Given the description of an element on the screen output the (x, y) to click on. 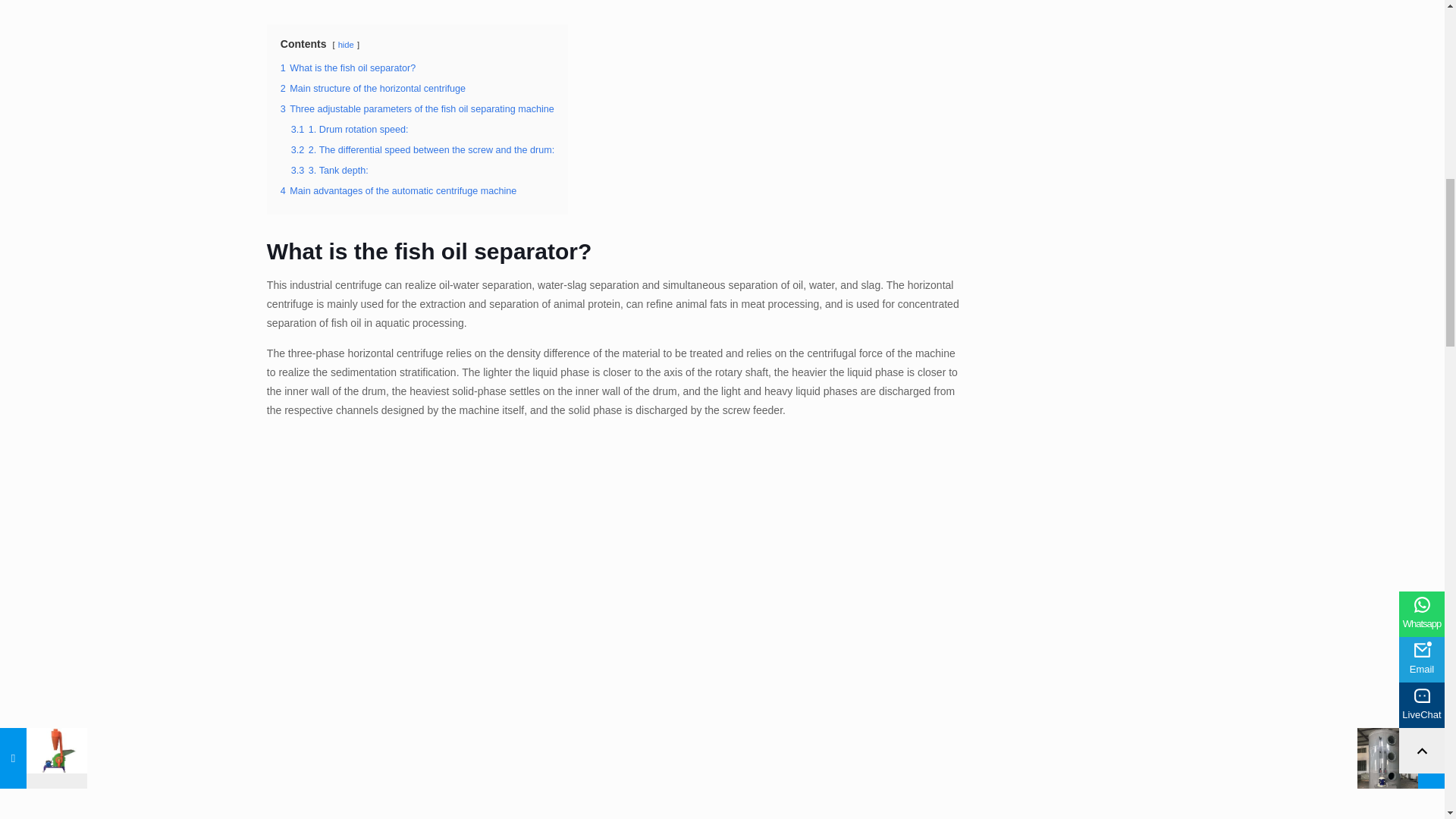
2 Main structure of the horizontal centrifuge (373, 88)
1 What is the fish oil separator? (347, 68)
4 Main advantages of the automatic centrifuge machine (398, 190)
hide (345, 44)
3.1 1. Drum rotation speed: (350, 129)
3.3 3. Tank depth: (329, 170)
